Given the description of an element on the screen output the (x, y) to click on. 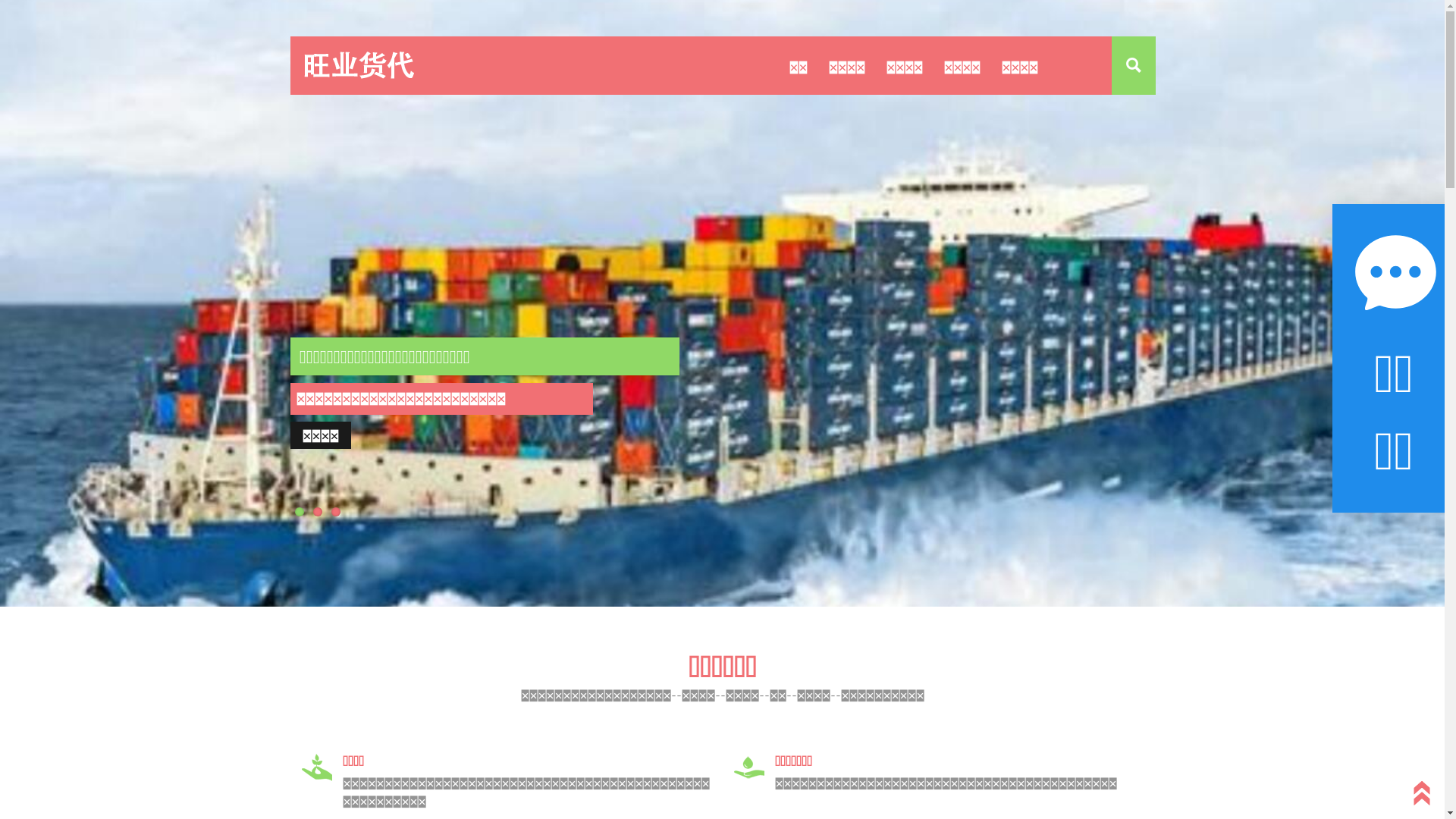
2 Element type: text (317, 511)
1 Element type: text (299, 511)
3 Element type: text (335, 511)
